Given the description of an element on the screen output the (x, y) to click on. 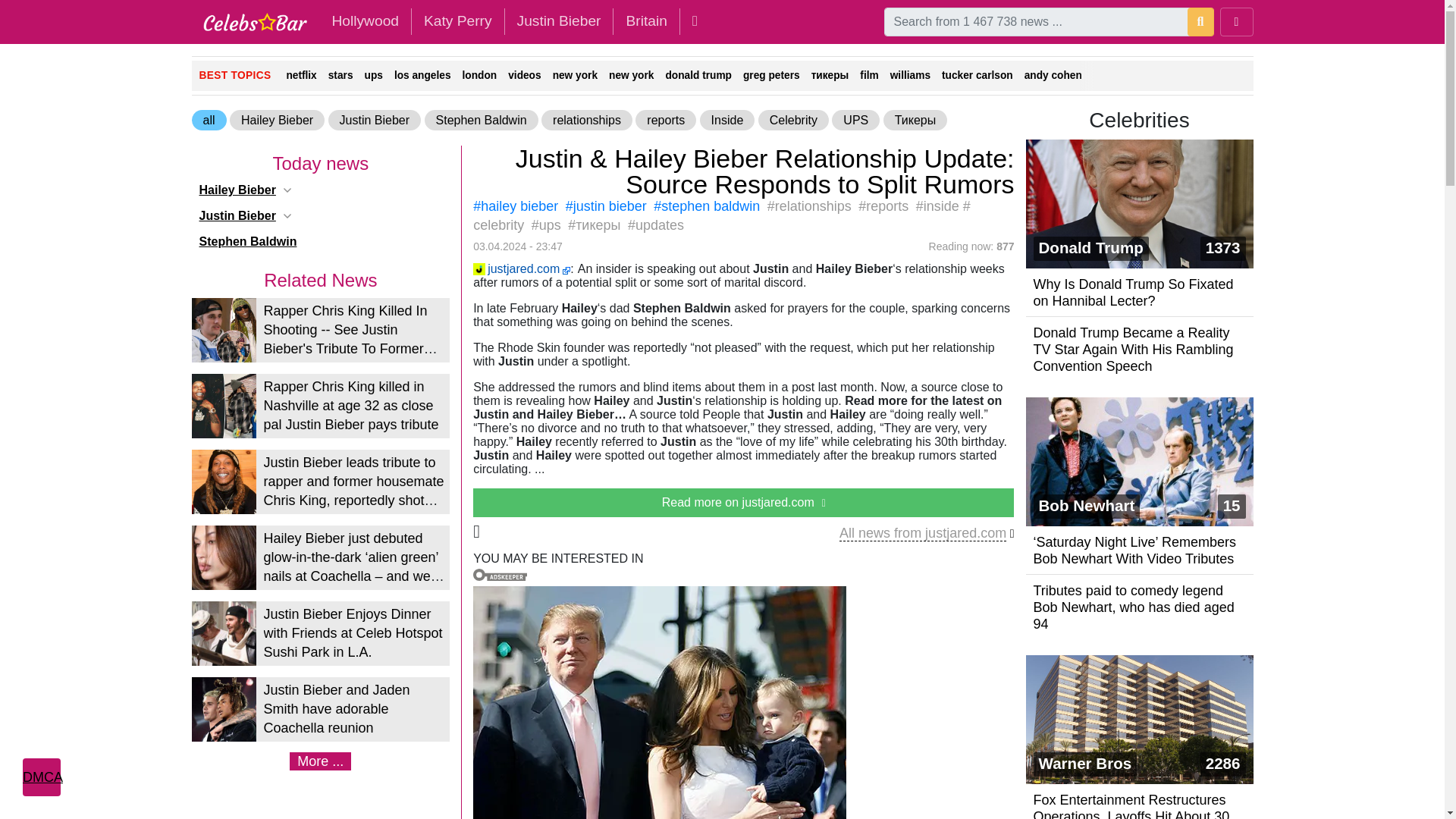
Justin Bieber (558, 21)
Britain (645, 21)
Justin Bieber (558, 21)
Katy Perry (457, 21)
Hollywood (364, 21)
Katy Perry (457, 21)
Hollywood (364, 21)
Britain (645, 21)
